Given the description of an element on the screen output the (x, y) to click on. 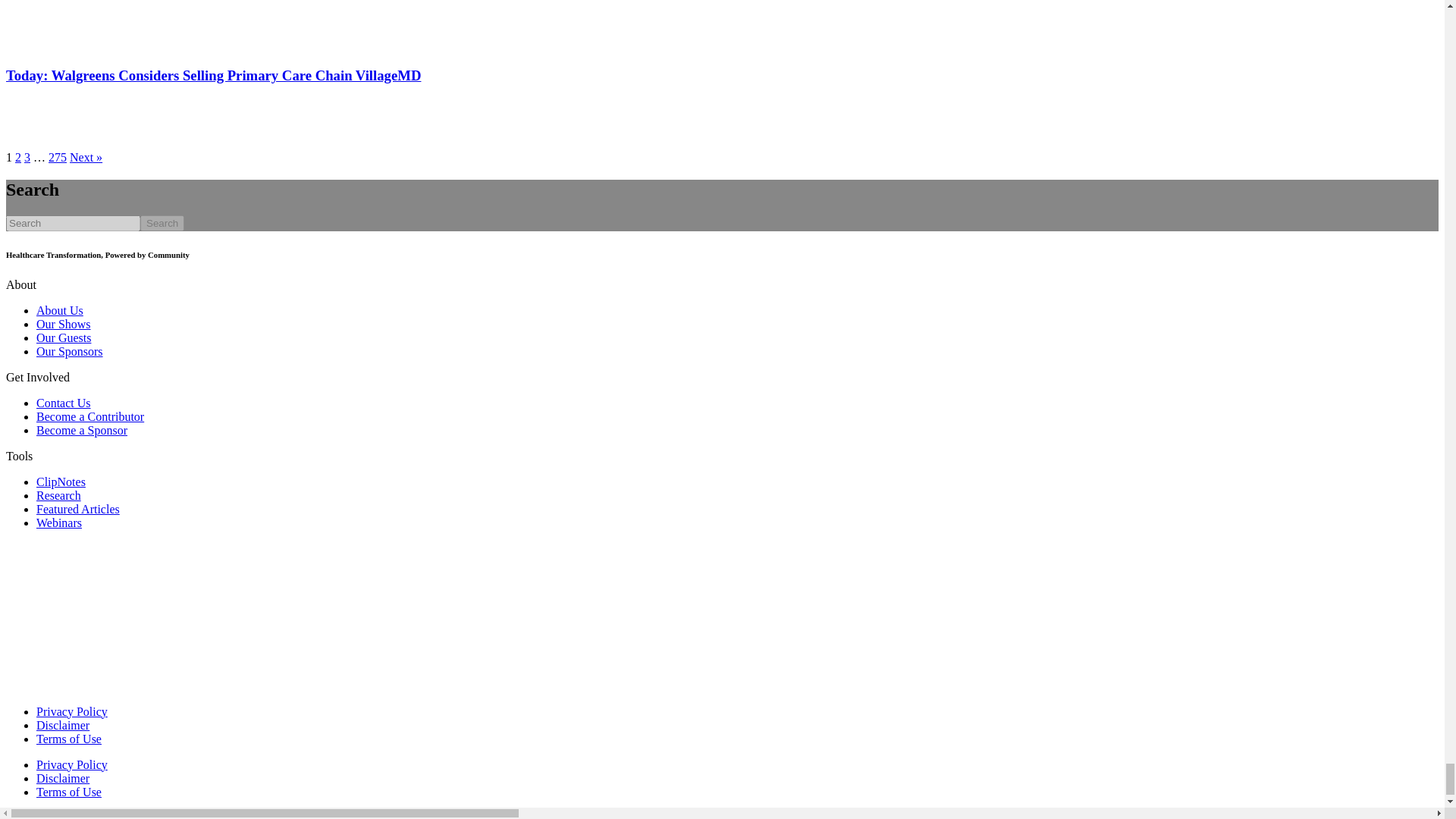
275 (57, 156)
About Us (59, 309)
Search (161, 222)
